Given the description of an element on the screen output the (x, y) to click on. 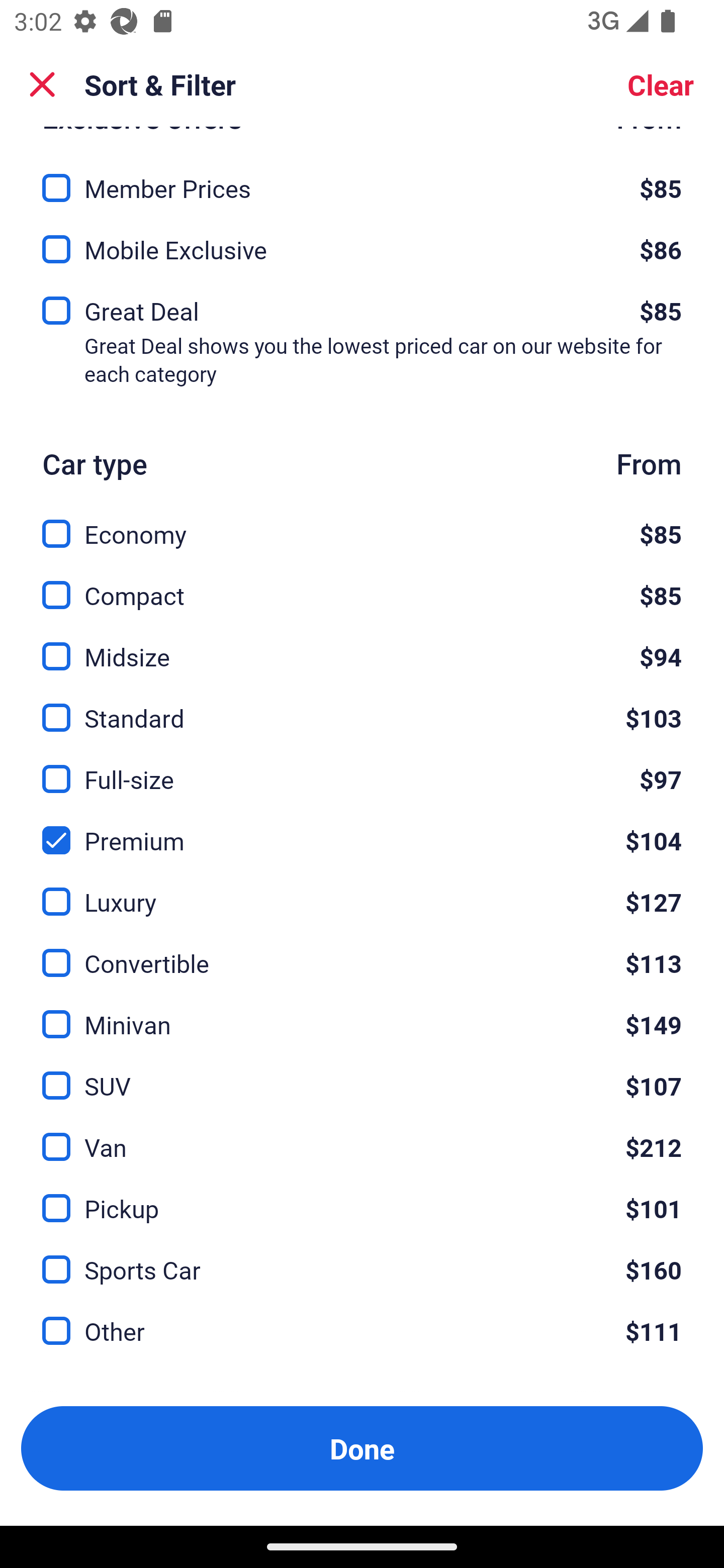
Close Sort and Filter (42, 84)
Clear (660, 84)
Member Prices, $85 Member Prices $85 (361, 175)
Mobile Exclusive, $86 Mobile Exclusive $86 (361, 243)
Economy, $85 Economy $85 (361, 522)
Compact, $85 Compact $85 (361, 583)
Midsize, $94 Midsize $94 (361, 644)
Standard, $103 Standard $103 (361, 705)
Full-size, $97 Full-size $97 (361, 767)
Premium, $104 Premium $104 (361, 828)
Luxury, $127 Luxury $127 (361, 890)
Convertible, $113 Convertible $113 (361, 952)
Minivan, $149 Minivan $149 (361, 1013)
SUV, $107 SUV $107 (361, 1074)
Van, $212 Van $212 (361, 1135)
Pickup, $101 Pickup $101 (361, 1196)
Sports Car, $160 Sports Car $160 (361, 1257)
Other, $111 Other $111 (361, 1330)
Apply and close Sort and Filter Done (361, 1448)
